Given the description of an element on the screen output the (x, y) to click on. 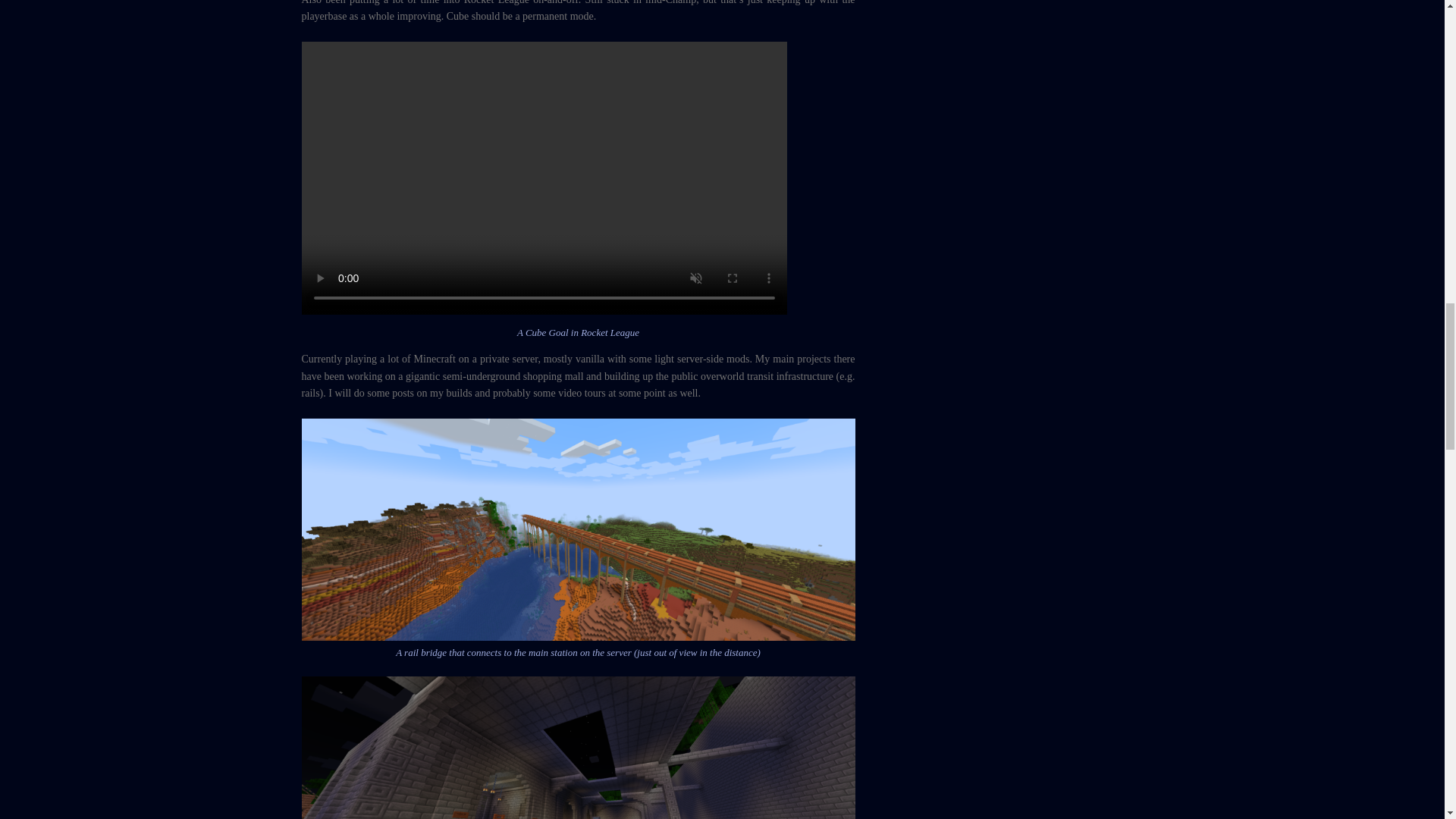
Goal 8: cube smurf (544, 177)
